Given the description of an element on the screen output the (x, y) to click on. 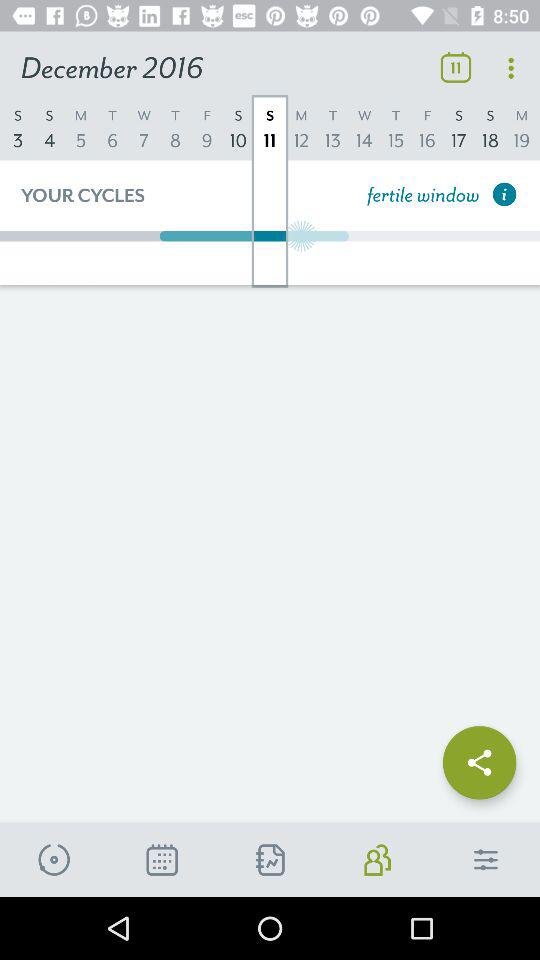
go to home page (486, 860)
